Given the description of an element on the screen output the (x, y) to click on. 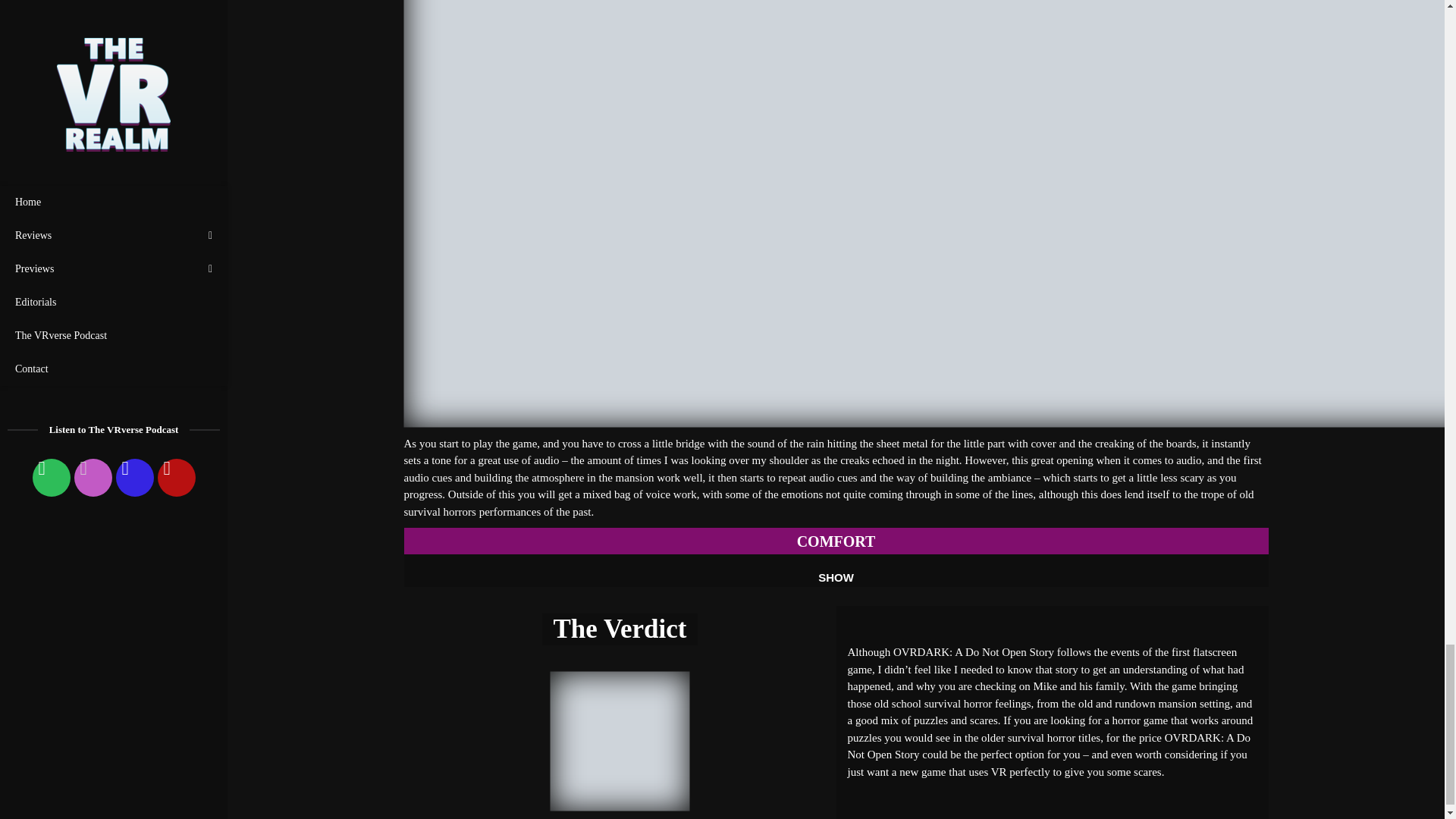
SHOW (835, 578)
